Given the description of an element on the screen output the (x, y) to click on. 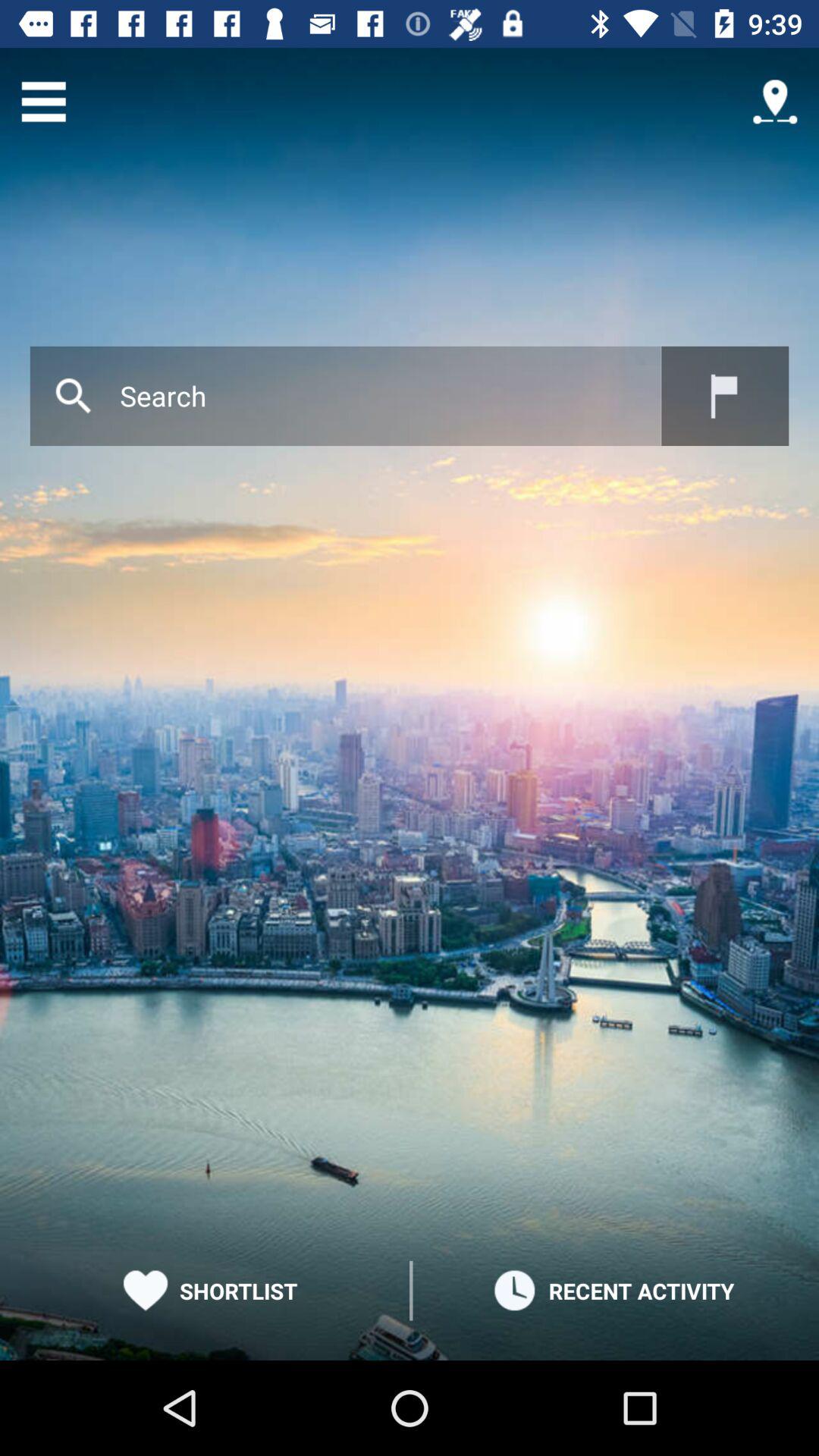
menu button (43, 101)
